Given the description of an element on the screen output the (x, y) to click on. 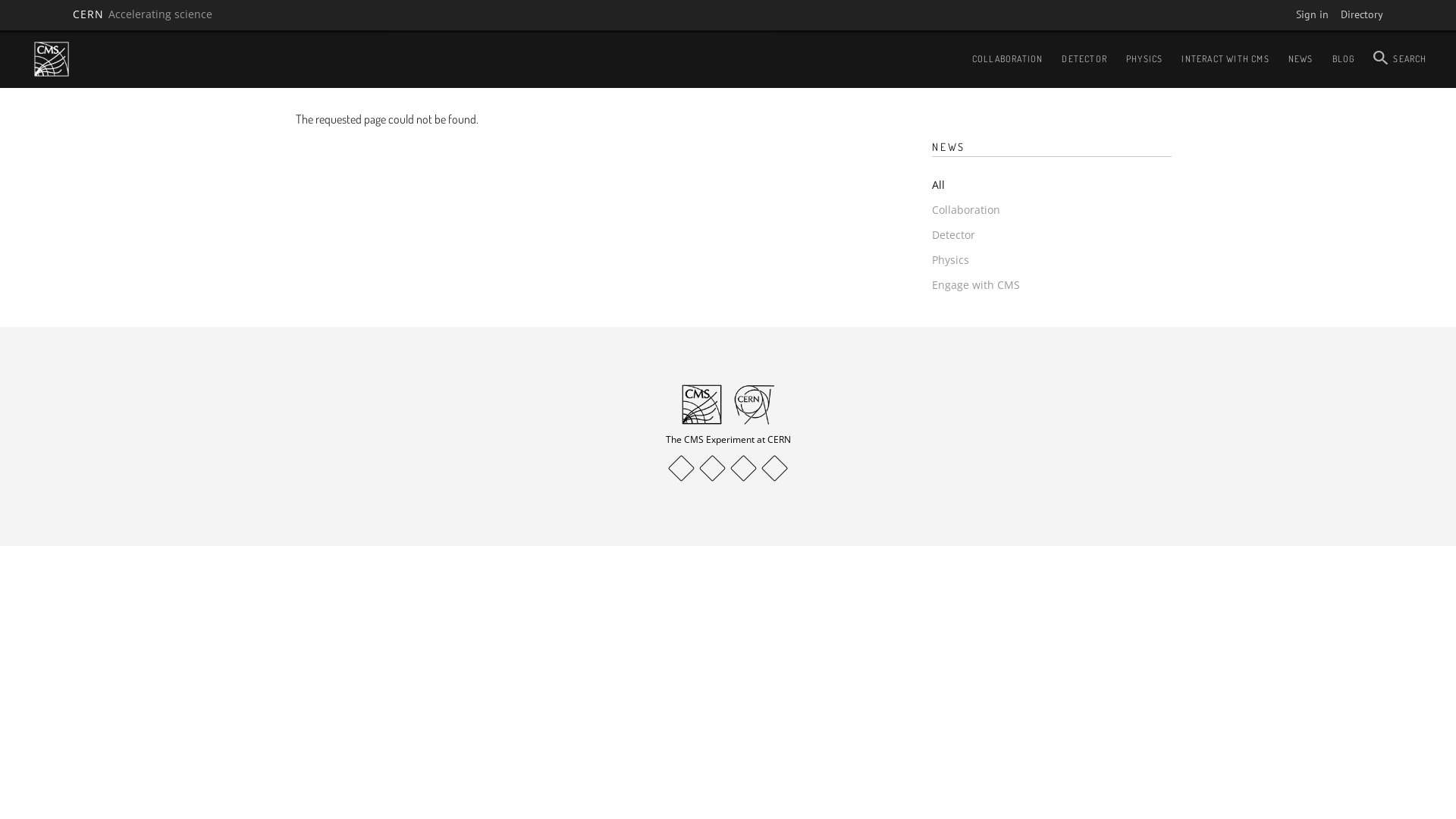
CERN Accelerating science Element type: text (142, 14)
Collaboration Element type: text (965, 210)
COLLABORATION Element type: text (1007, 58)
Home Element type: hover (51, 58)
NEWS Element type: text (1300, 58)
Apply Element type: text (21, 14)
SEARCH Element type: text (1400, 58)
BLOG Element type: text (1343, 58)
Skip to main content Element type: text (0, 30)
All Element type: text (937, 185)
INTERACT WITH CMS Element type: text (1224, 58)
Detector Element type: text (953, 235)
PHYSICS Element type: text (1144, 58)
Directory Element type: text (1361, 14)
DETECTOR Element type: text (1084, 58)
Physics Element type: text (950, 260)
Sign in Element type: text (1311, 14)
Engage with CMS Element type: text (975, 285)
